Given the description of an element on the screen output the (x, y) to click on. 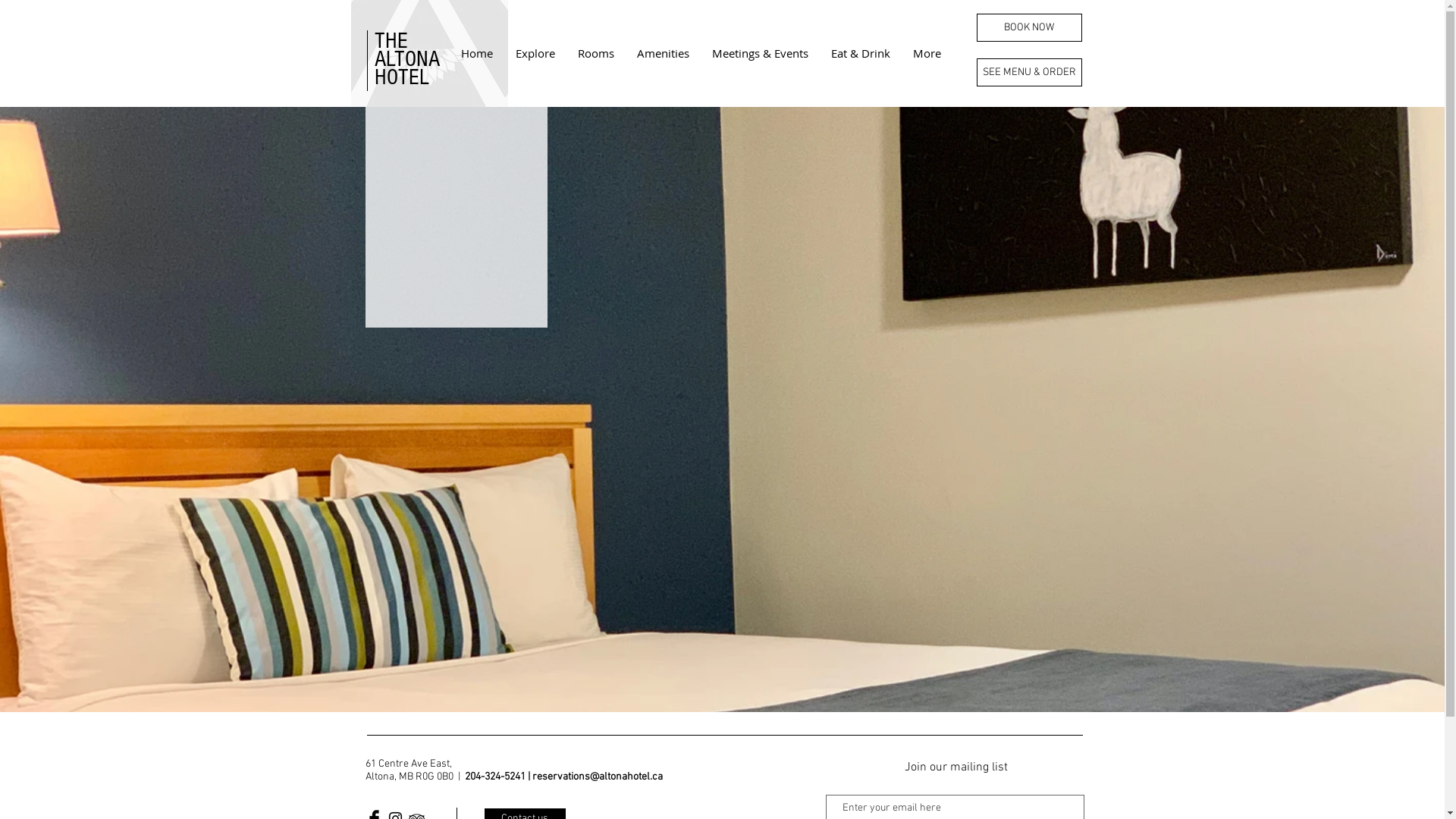
Meetings & Events Element type: text (759, 52)
BOOK NOW Element type: text (1029, 27)
Embedded Content Element type: hover (455, 285)
ALTONA Element type: text (406, 59)
Rooms Element type: text (594, 52)
reservations@altonahotel.ca Element type: text (597, 776)
THE Element type: text (390, 40)
SEE MENU & ORDER Element type: text (1029, 72)
HOTEL Element type: text (401, 77)
Explore Element type: text (534, 52)
Amenities Element type: text (661, 52)
Home Element type: text (475, 52)
Eat & Drink Element type: text (859, 52)
